Given the description of an element on the screen output the (x, y) to click on. 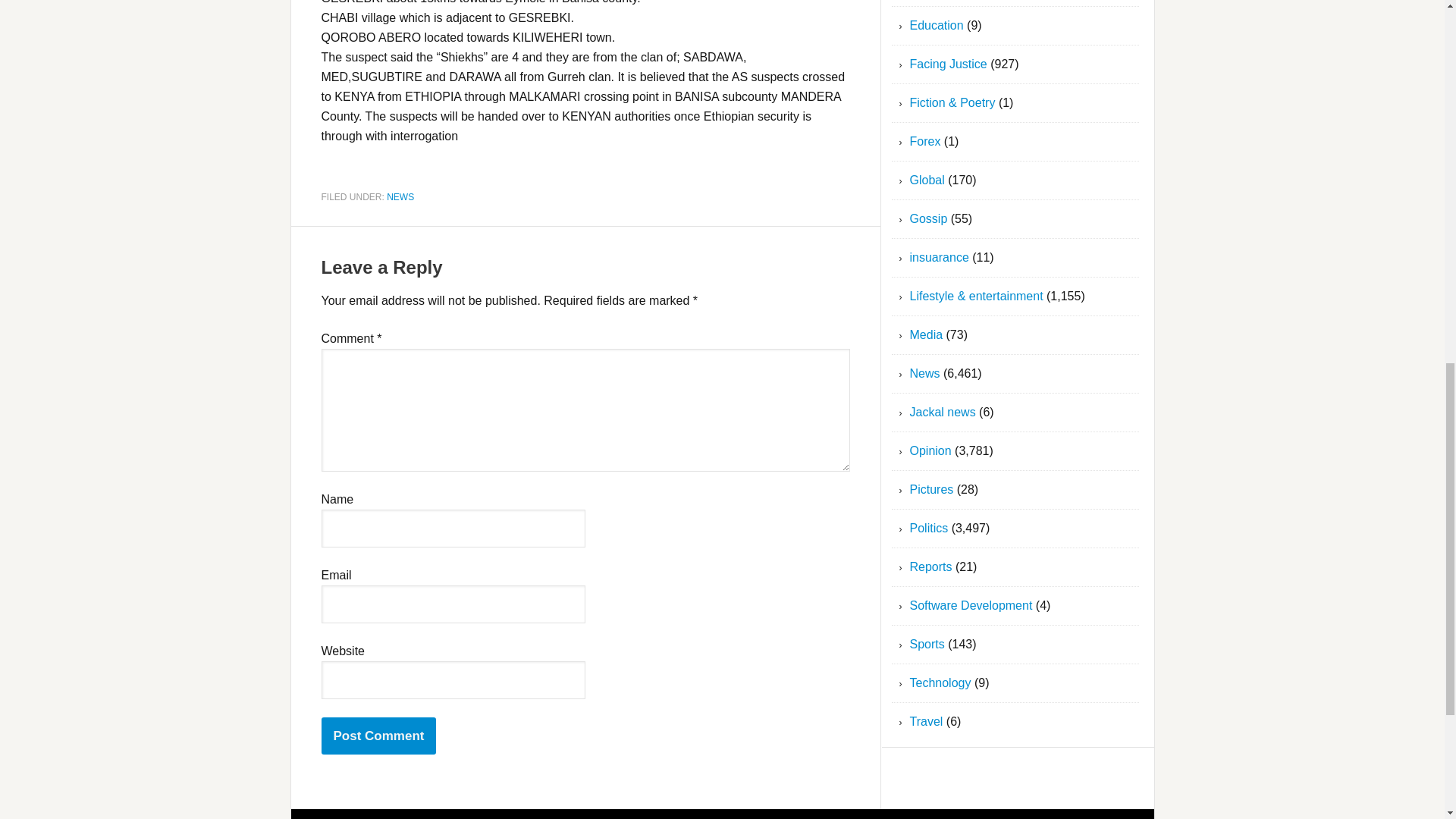
Reports (931, 566)
Gossip (928, 218)
Politics (929, 527)
Pictures (931, 489)
Forex (925, 141)
News (925, 373)
insuarance (939, 256)
Post Comment (378, 735)
Education (936, 24)
NEWS (400, 195)
